Given the description of an element on the screen output the (x, y) to click on. 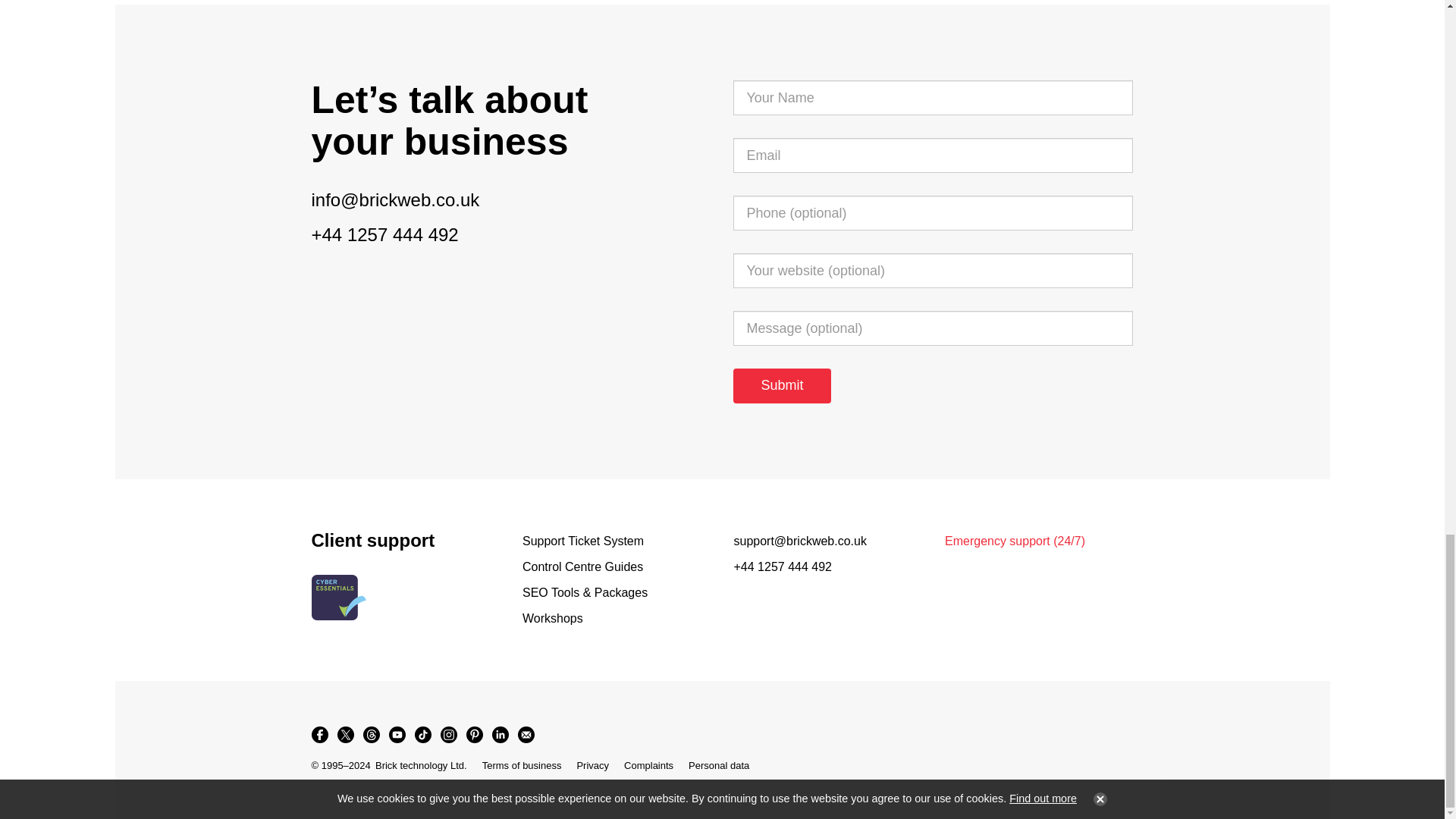
YouTube (396, 734)
Newsletter (525, 734)
Facebook (318, 734)
Submit (781, 385)
TikTok (422, 734)
LinkedIn (499, 734)
Threads (371, 734)
